Given the description of an element on the screen output the (x, y) to click on. 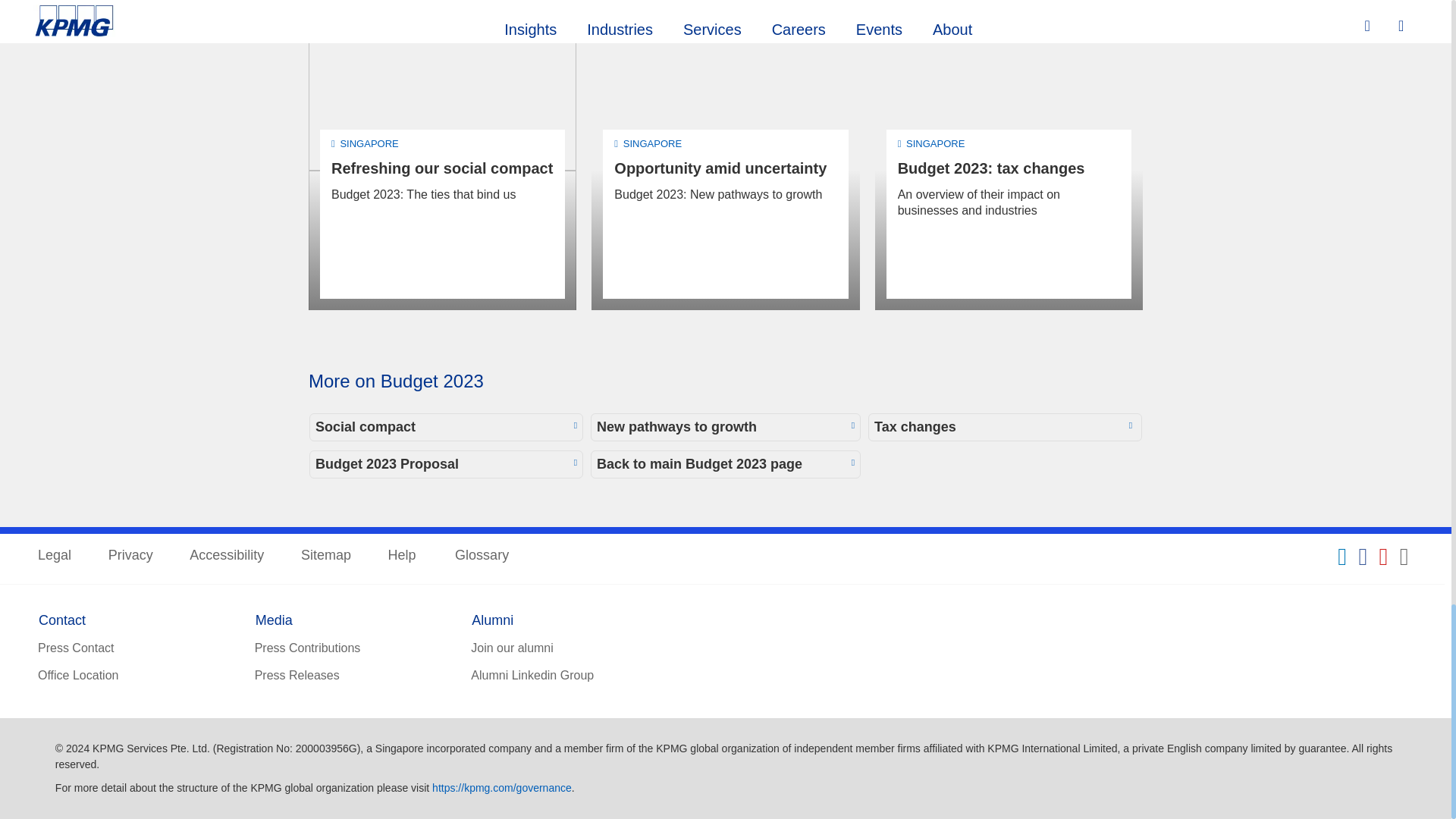
Privacy (129, 556)
Social compact (445, 427)
Back to main Budget 2023 page (725, 464)
Budget 2023 Proposal  (445, 464)
Back to main Budget 2023 page (725, 464)
Social compact (445, 427)
Accessibility (226, 556)
Tax changes (1004, 427)
Glossary (481, 556)
Budget 2023 Proposal (445, 464)
Tax changes (1004, 427)
New pathways to growth (725, 427)
